Given the description of an element on the screen output the (x, y) to click on. 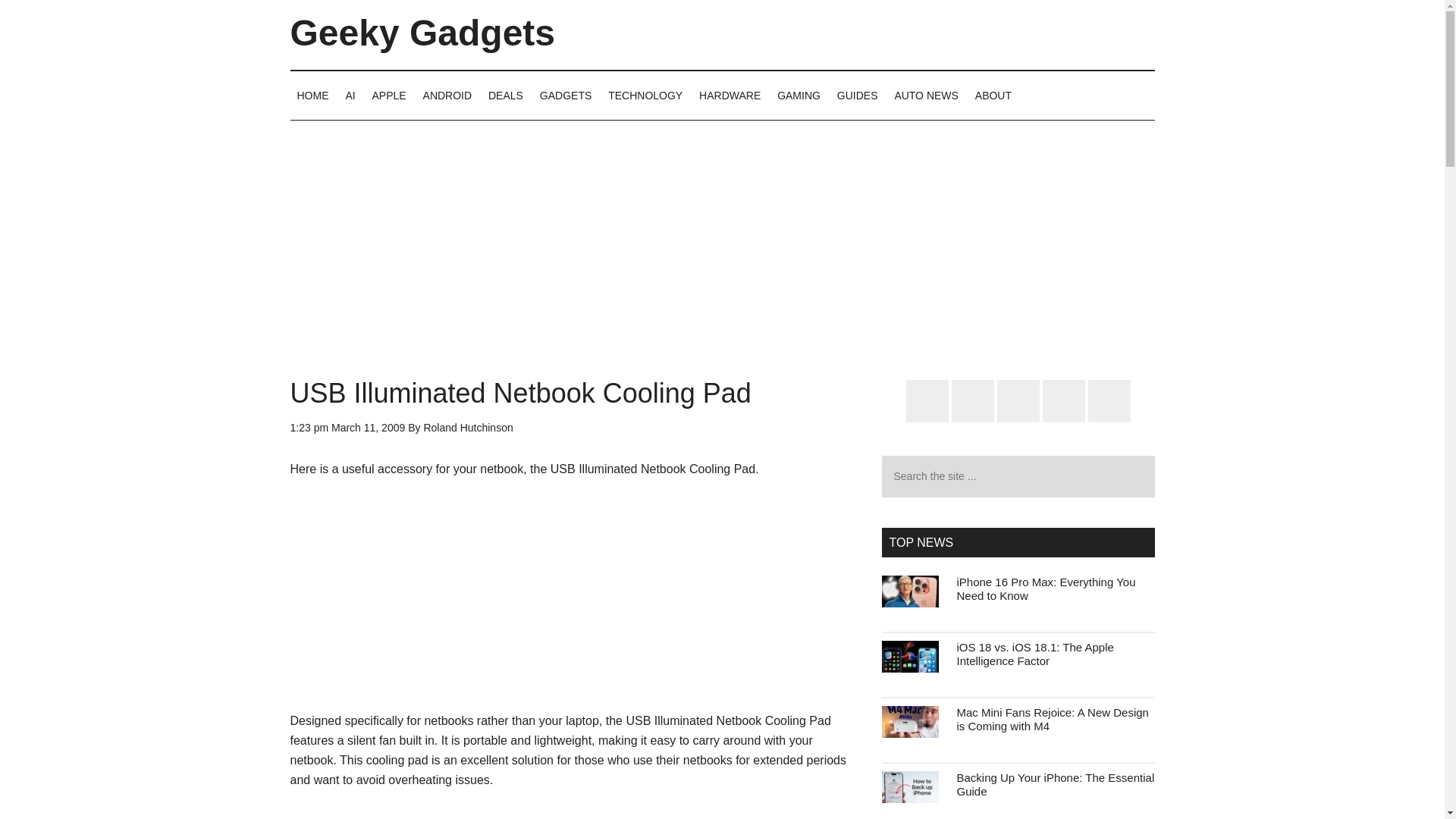
TECHNOLOGY (644, 95)
Backing Up Your iPhone: The Essential Guide (1055, 784)
DEALS (505, 95)
AUTO NEWS (925, 95)
HOME (311, 95)
GAMING (798, 95)
ANDROID (447, 95)
